Given the description of an element on the screen output the (x, y) to click on. 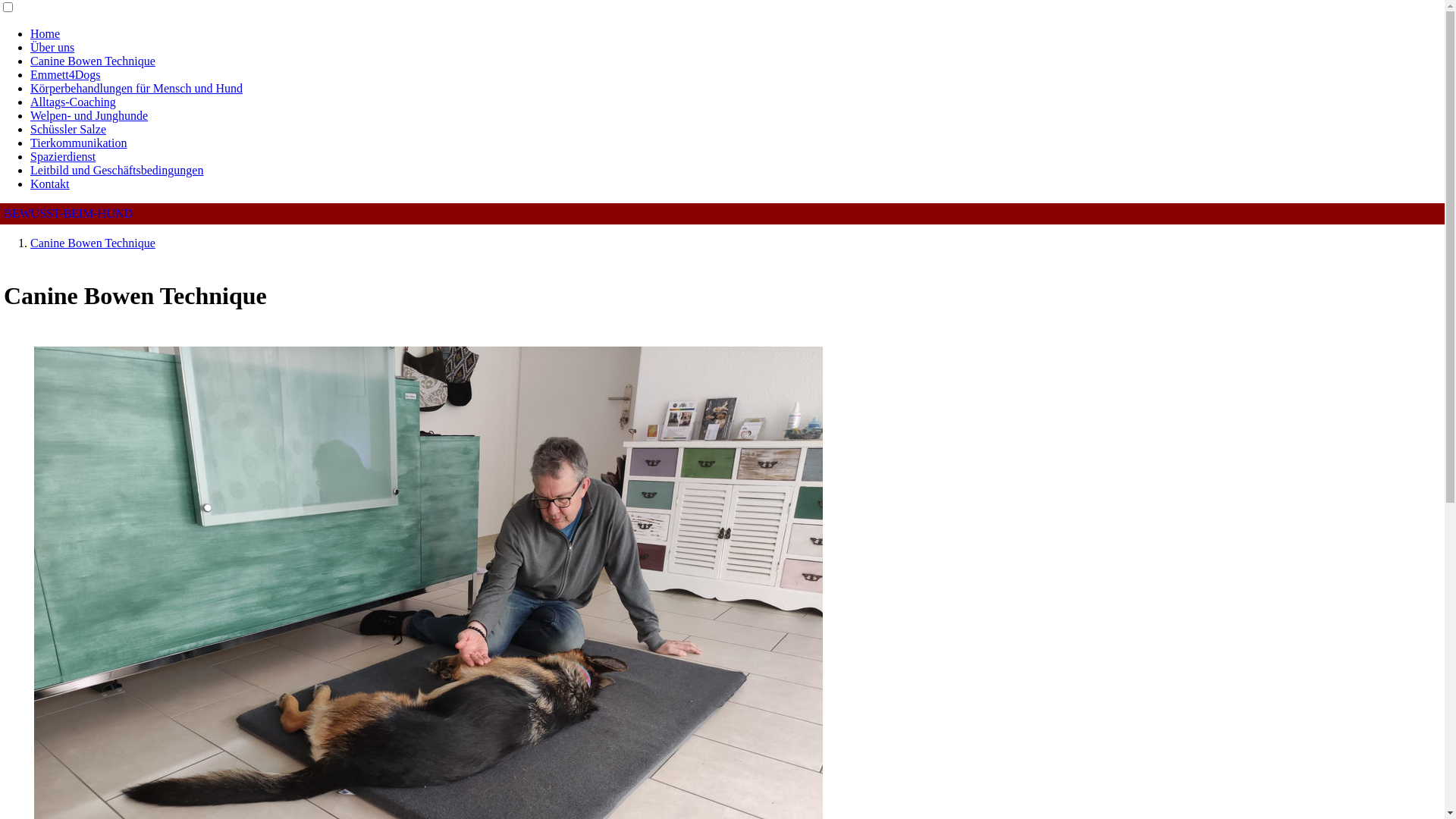
Emmett4Dogs Element type: text (65, 74)
Home Element type: text (44, 33)
Tierkommunikation Element type: text (78, 142)
Spazierdienst Element type: text (62, 156)
BEWUSST-BEIM-HUND Element type: text (67, 213)
Alltags-Coaching Element type: text (73, 101)
Canine Bowen Technique Element type: text (92, 242)
Canine Bowen Technique Element type: text (92, 60)
Welpen- und Junghunde Element type: text (88, 115)
Kontakt Element type: text (49, 183)
